Given the description of an element on the screen output the (x, y) to click on. 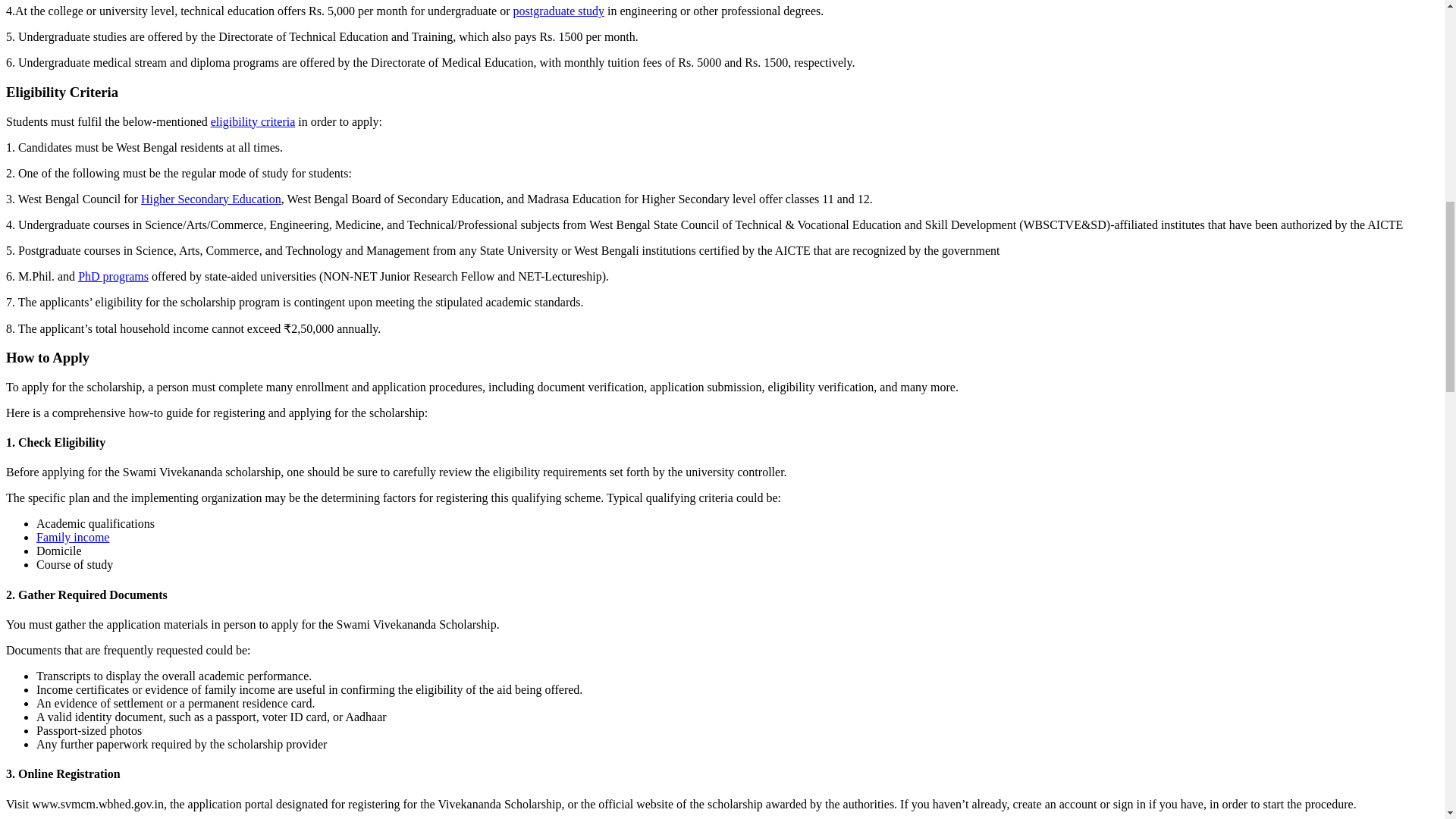
eligibility criteria (253, 121)
Family income (72, 536)
postgraduate study (558, 10)
Higher Secondary Education (211, 198)
PhD programs (113, 276)
